Given the description of an element on the screen output the (x, y) to click on. 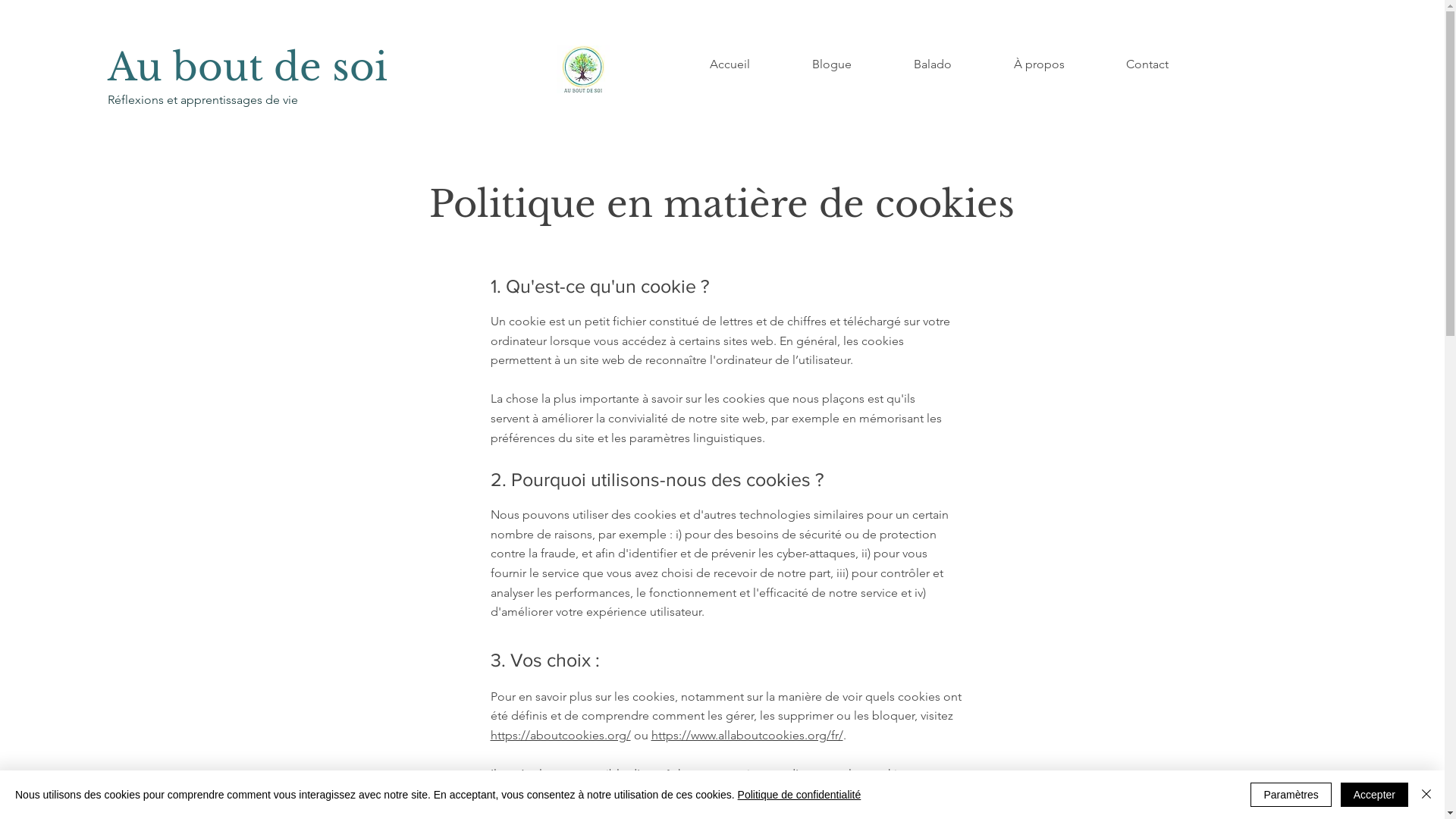
Contact Element type: text (1146, 64)
Balado Element type: text (932, 64)
Au bout Element type: text (190, 67)
Accueil Element type: text (729, 64)
Logo%20Au%20bout%20de%20soi-slogan-minia Element type: hover (582, 69)
de soi Element type: text (330, 67)
https://www.allaboutcookies.org/fr/ Element type: text (746, 735)
https://aboutcookies.org/ Element type: text (559, 735)
Blogue Element type: text (831, 64)
Accepter Element type: text (1374, 794)
